Given the description of an element on the screen output the (x, y) to click on. 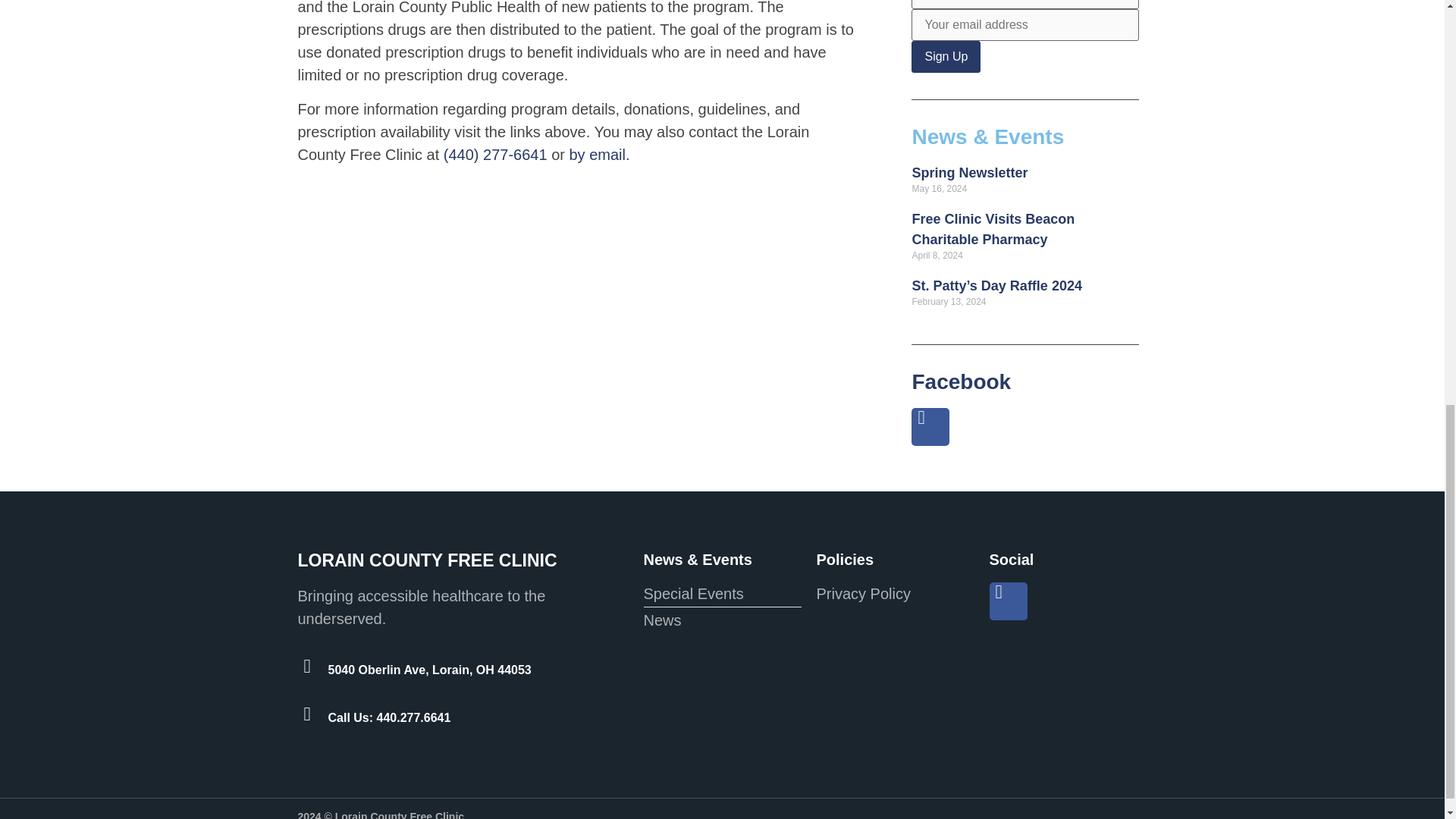
Sign Up (945, 56)
